Given the description of an element on the screen output the (x, y) to click on. 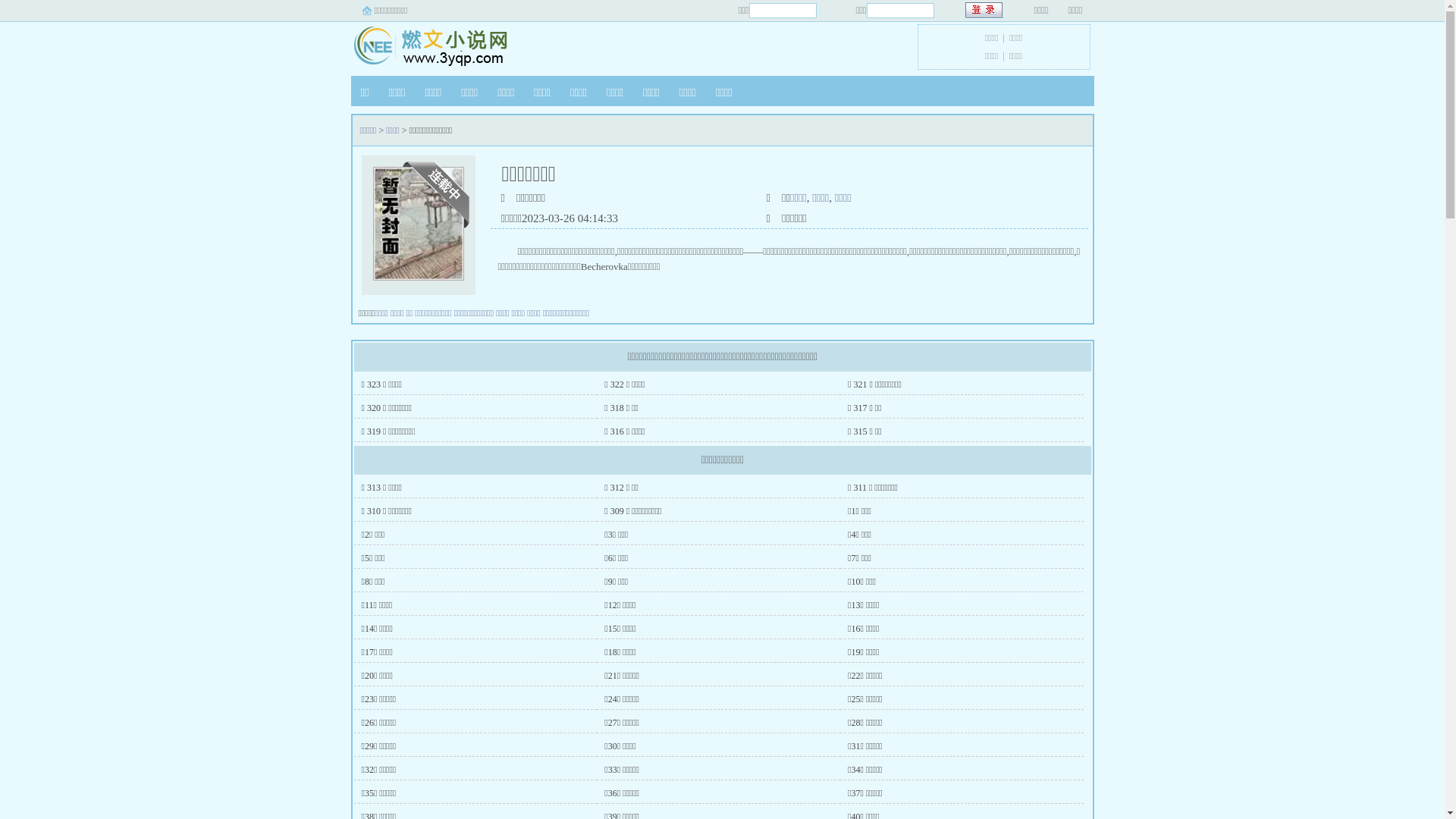
  Element type: text (983, 10)
